Given the description of an element on the screen output the (x, y) to click on. 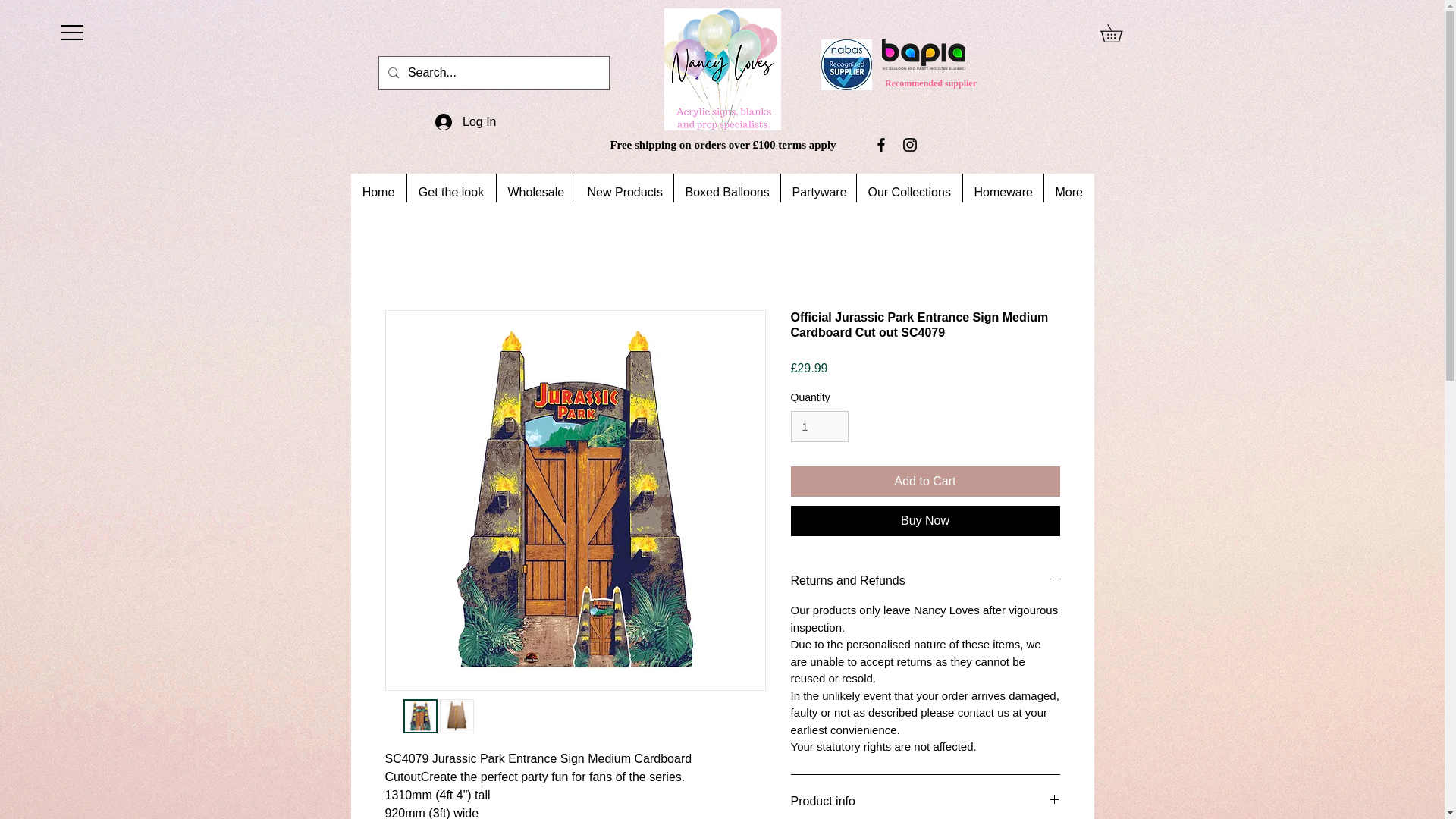
Partyware (817, 192)
Log In (465, 121)
New Products (623, 192)
Home (378, 192)
Get the look (451, 192)
Wholesale (535, 192)
1 (818, 426)
Boxed Balloons (726, 192)
Our Collections (908, 192)
Homeware (1001, 192)
